Given the description of an element on the screen output the (x, y) to click on. 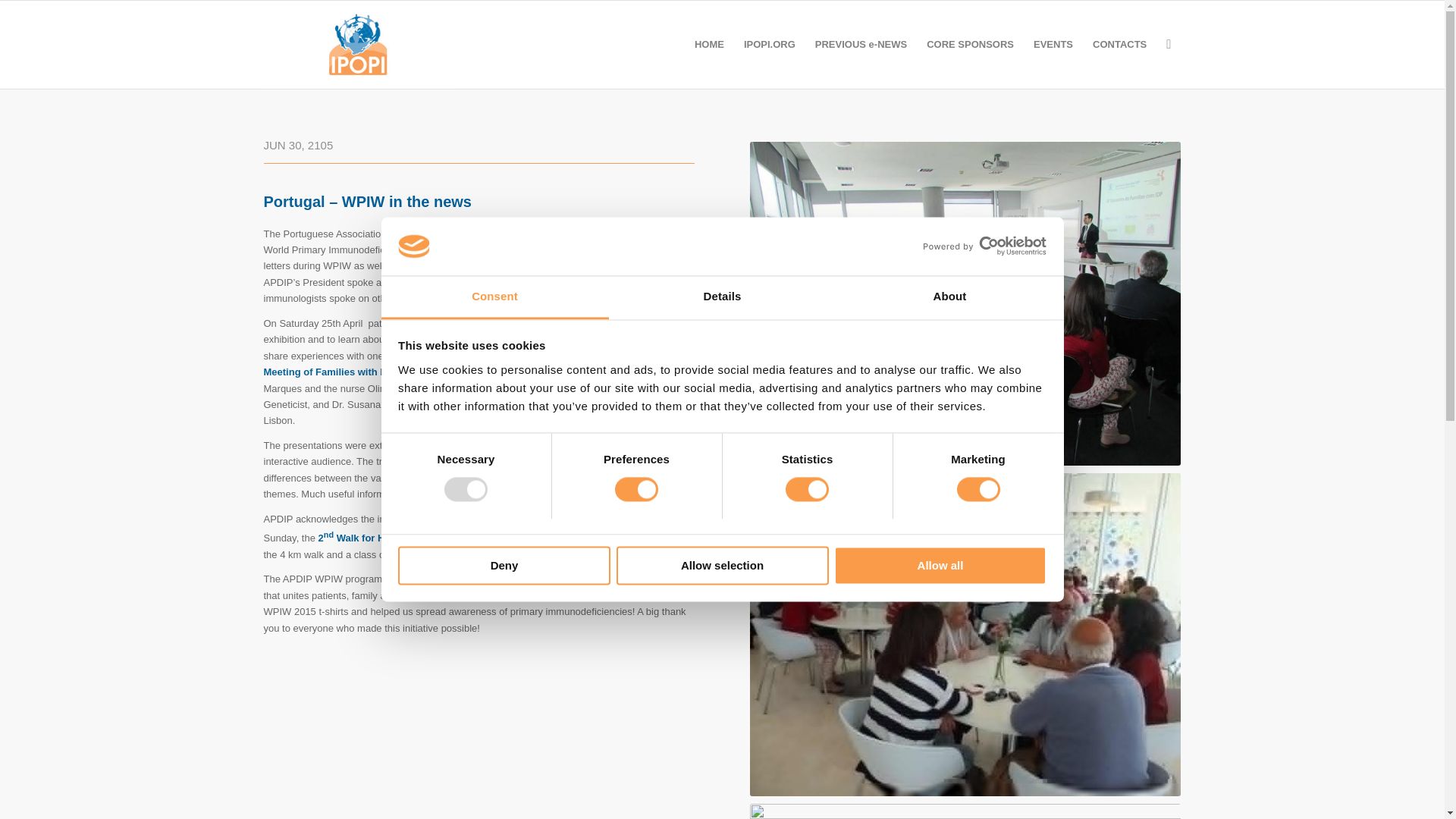
adpid walk (964, 811)
About (948, 297)
Details (721, 297)
Consent (494, 297)
